Given the description of an element on the screen output the (x, y) to click on. 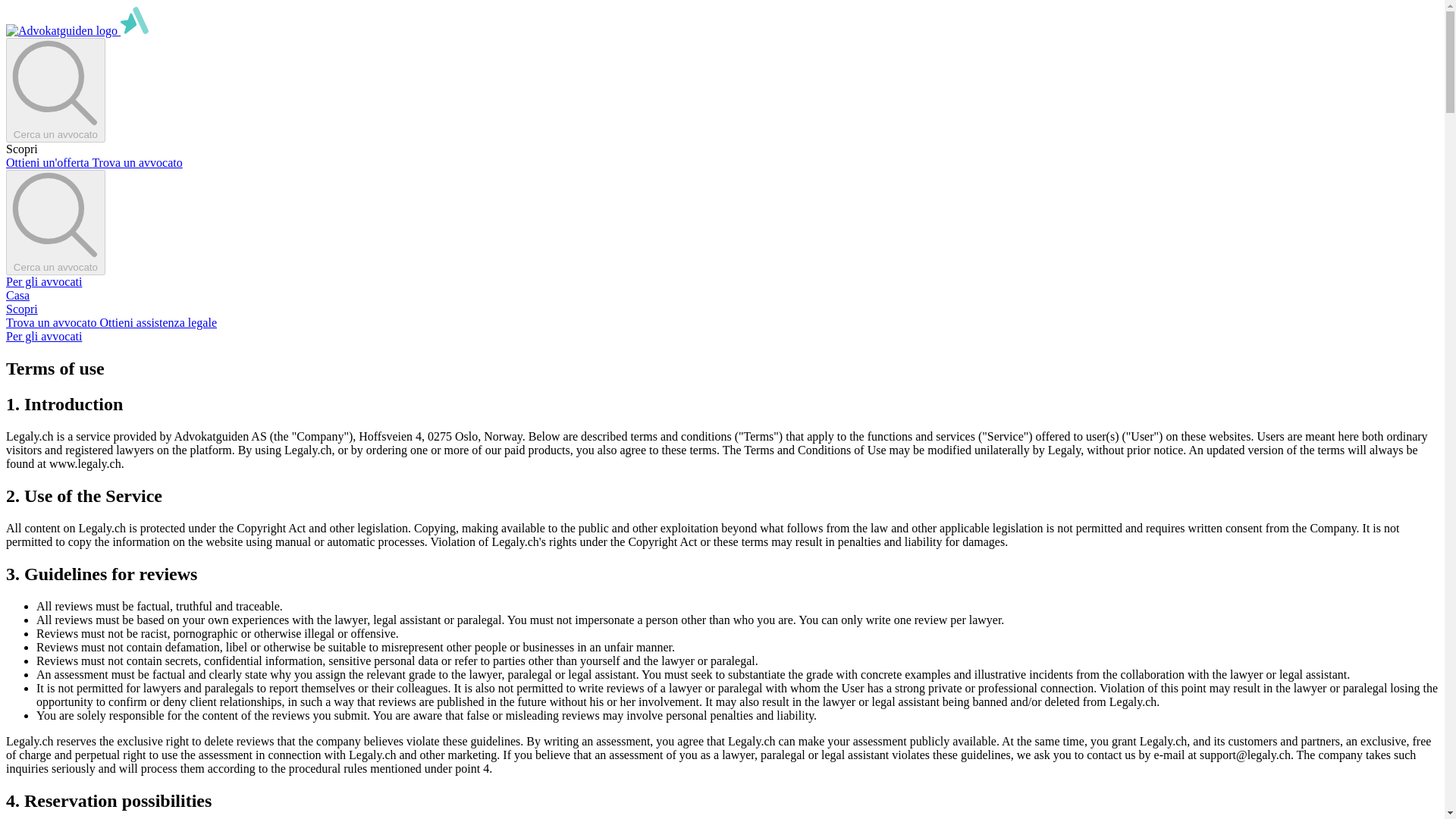
Scopri (21, 308)
Cerca un avvocato (54, 222)
Casa (17, 295)
Ottieni assistenza legale (157, 322)
Cerca un avvocato (54, 90)
Ottieni un'offerta (48, 162)
Per gli avvocati (43, 281)
Per gli avvocati (43, 336)
Scopri (21, 148)
Trova un avvocato (136, 162)
